Given the description of an element on the screen output the (x, y) to click on. 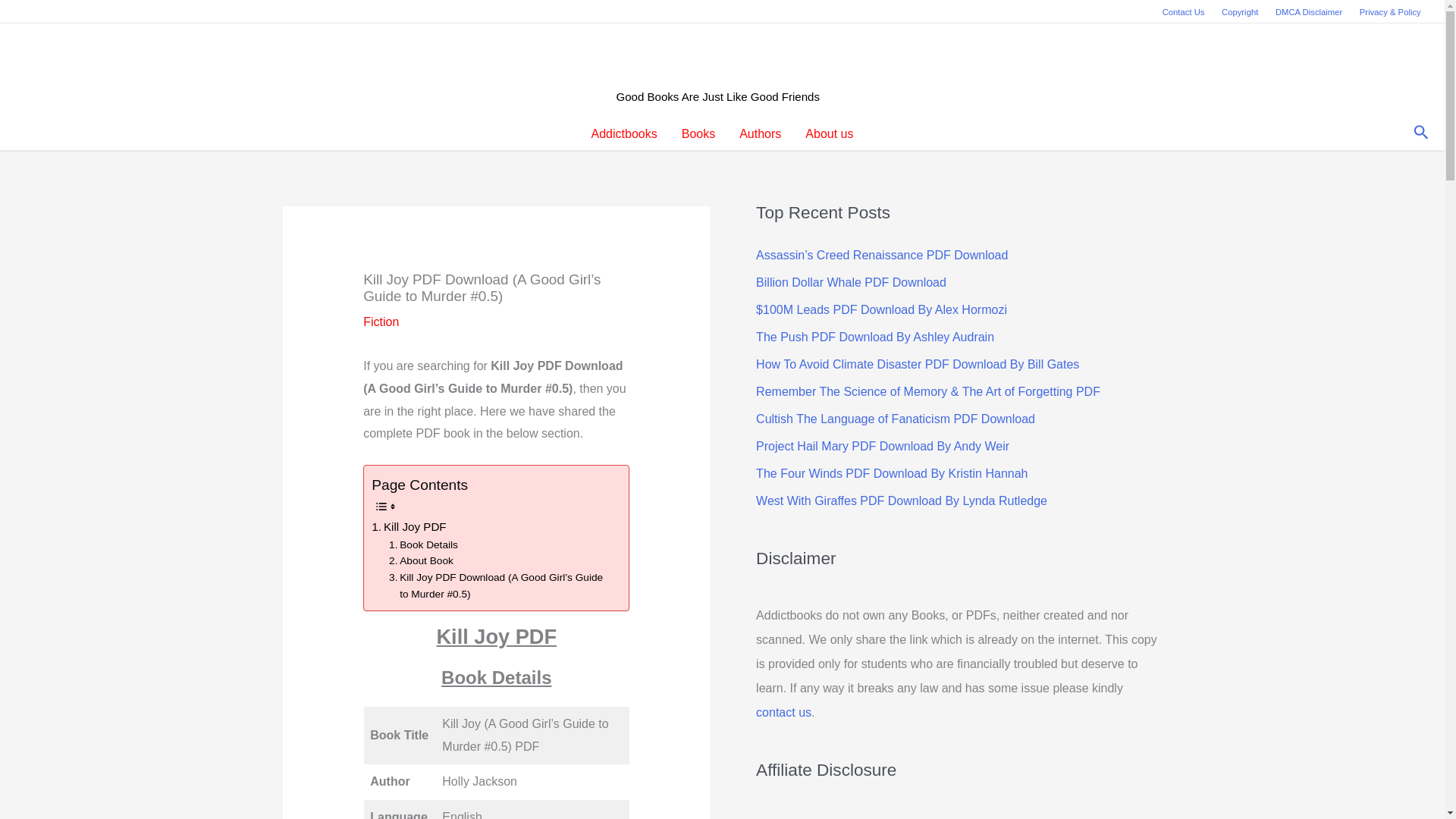
Kill Joy PDF (408, 526)
About us (828, 133)
About Book (420, 560)
Books (697, 133)
Addictbooks (624, 133)
DMCA Disclaimer (1308, 12)
Book Details (423, 545)
Authors (759, 133)
About Book (420, 560)
Fiction (380, 321)
Kill Joy PDF (408, 526)
Book Details (423, 545)
Search (1421, 133)
Copyright (1239, 12)
Contact Us (1182, 12)
